Given the description of an element on the screen output the (x, y) to click on. 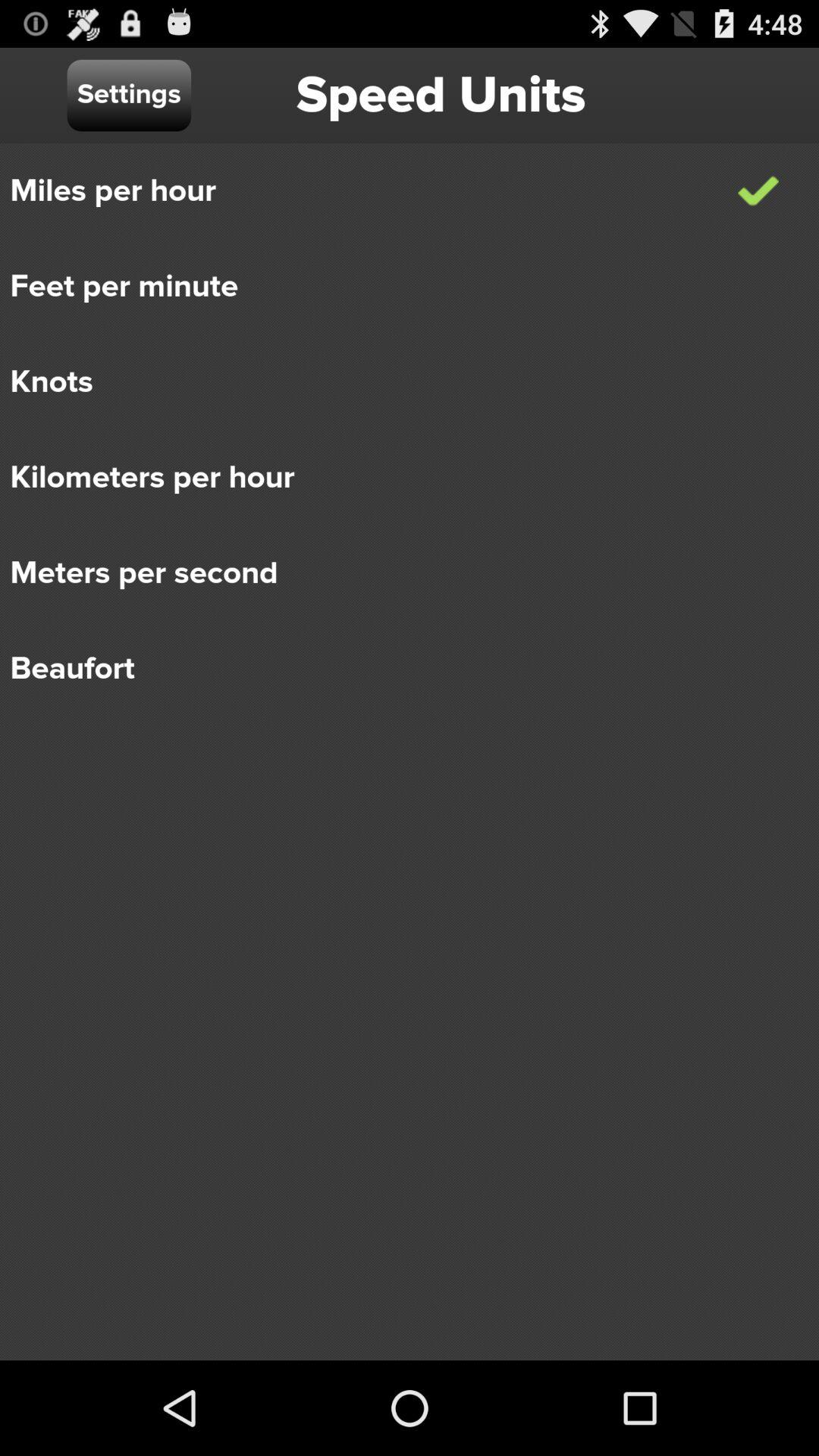
select the item next to speed units icon (129, 95)
